Given the description of an element on the screen output the (x, y) to click on. 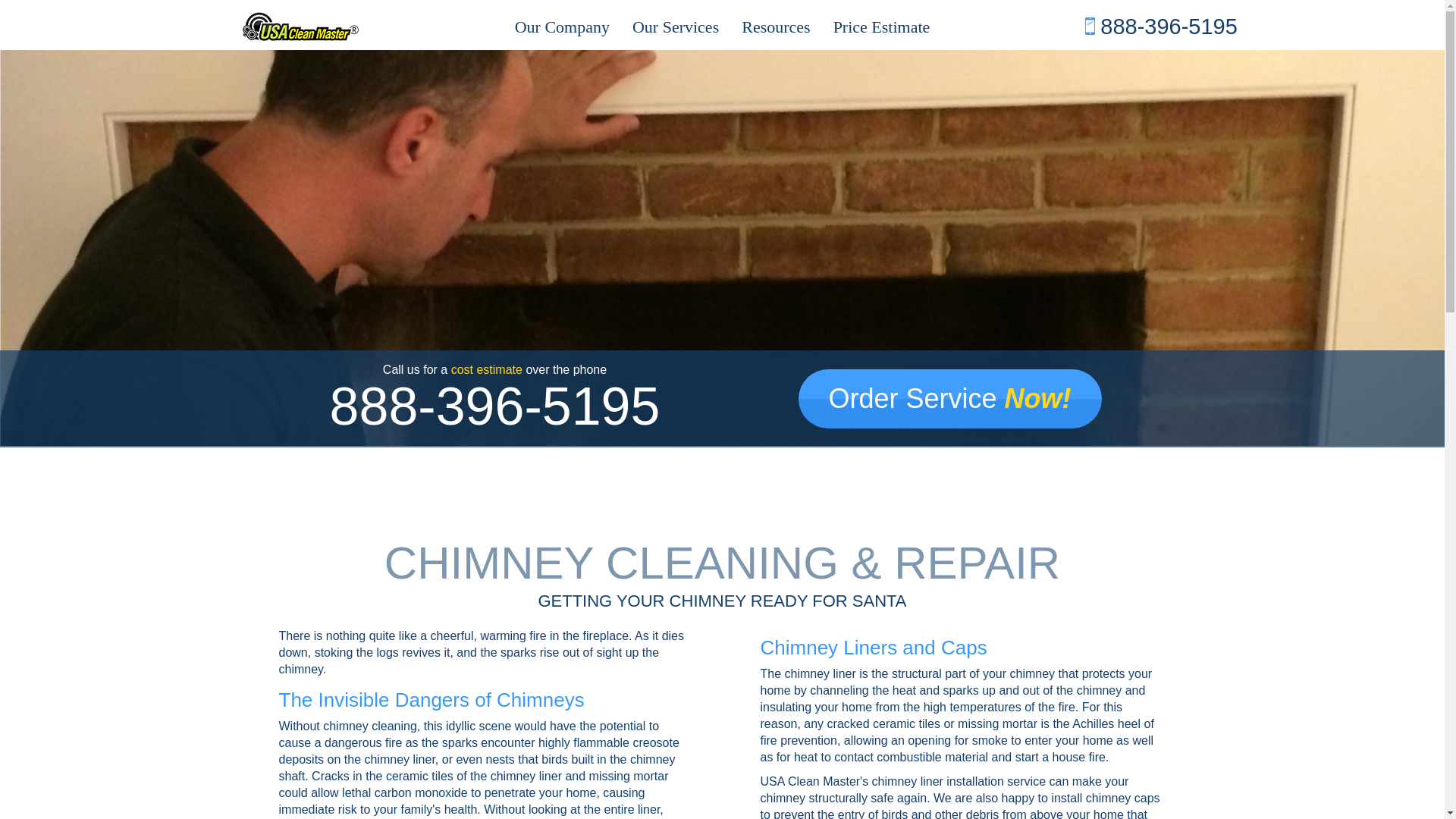
Our Company (562, 26)
USA Clean Master (300, 27)
Price Estimate (882, 26)
888-396-5195 (1160, 26)
Order Service Now! (948, 398)
Resources (775, 26)
Our Services (675, 26)
888-396-5195 (495, 405)
